Given the description of an element on the screen output the (x, y) to click on. 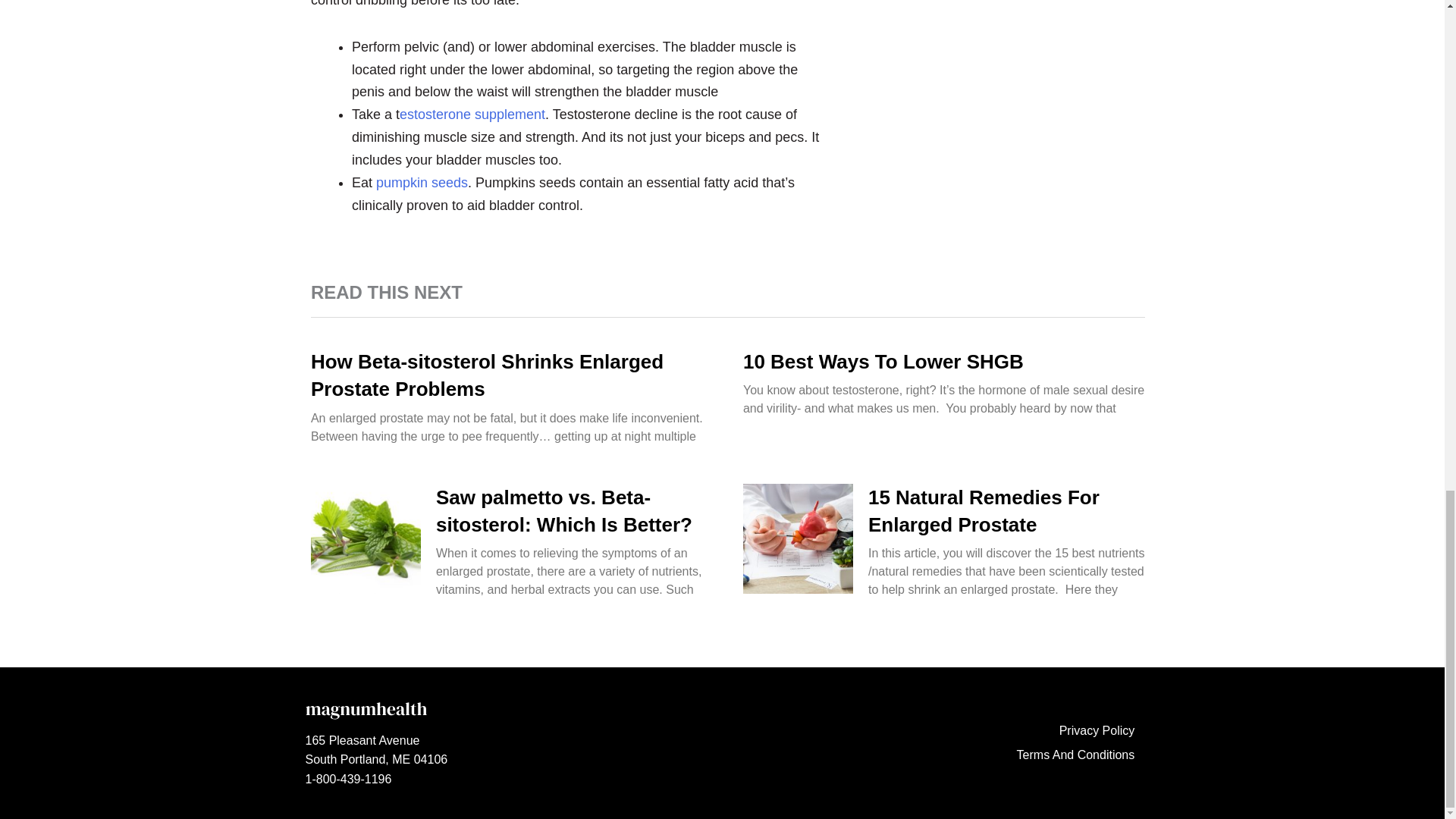
pumpkin seeds (421, 182)
estosterone supplement (471, 114)
How Beta-sitosterol Shrinks Enlarged Prostate Problems (487, 375)
